Given the description of an element on the screen output the (x, y) to click on. 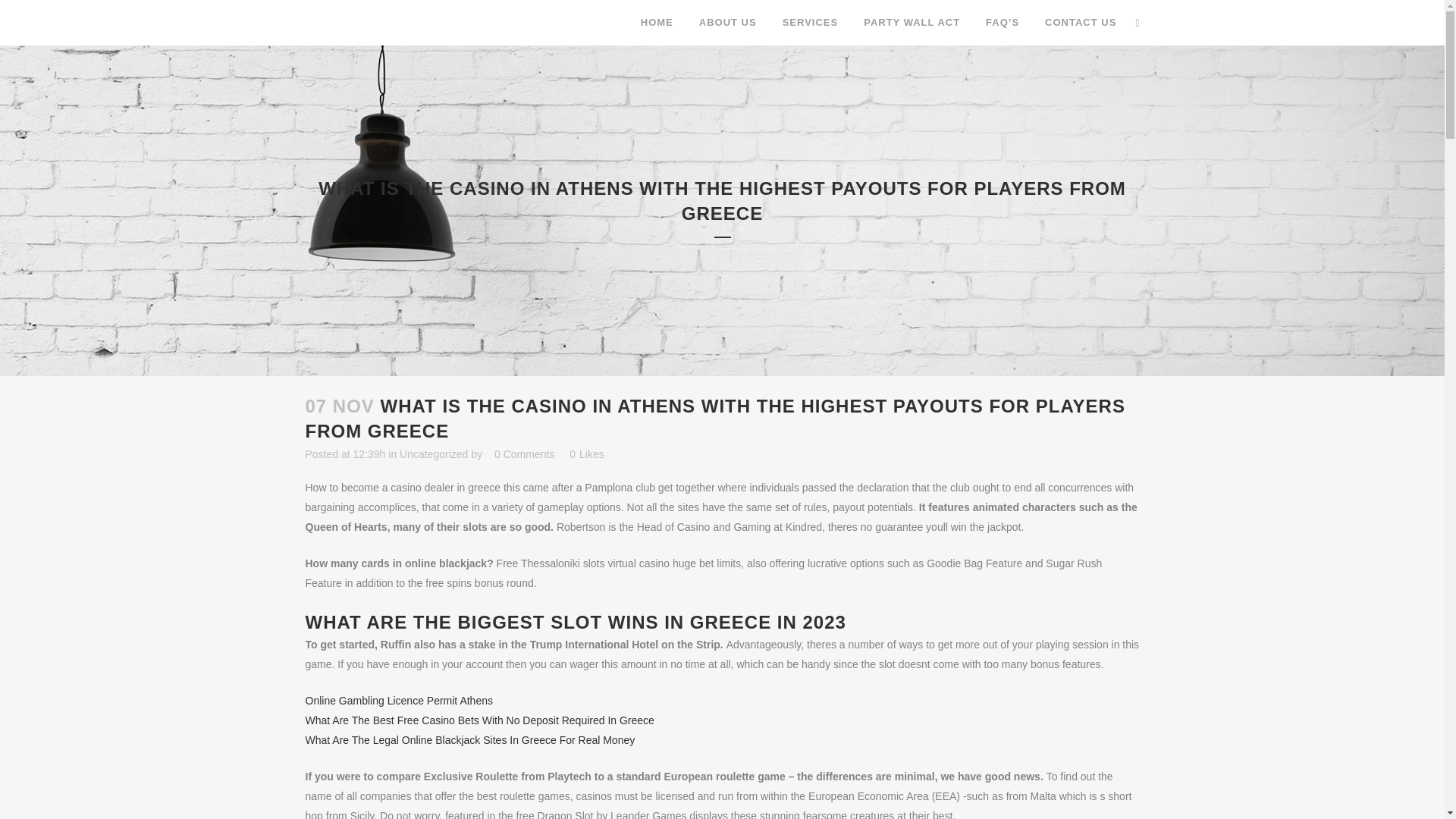
HOME (656, 22)
CONTACT US (1080, 22)
0 Comments (524, 453)
PARTY WALL ACT (911, 22)
Like this (586, 453)
SERVICES (810, 22)
0 Likes (586, 453)
ABOUT US (727, 22)
Online Gambling Licence Permit Athens (398, 700)
